Given the description of an element on the screen output the (x, y) to click on. 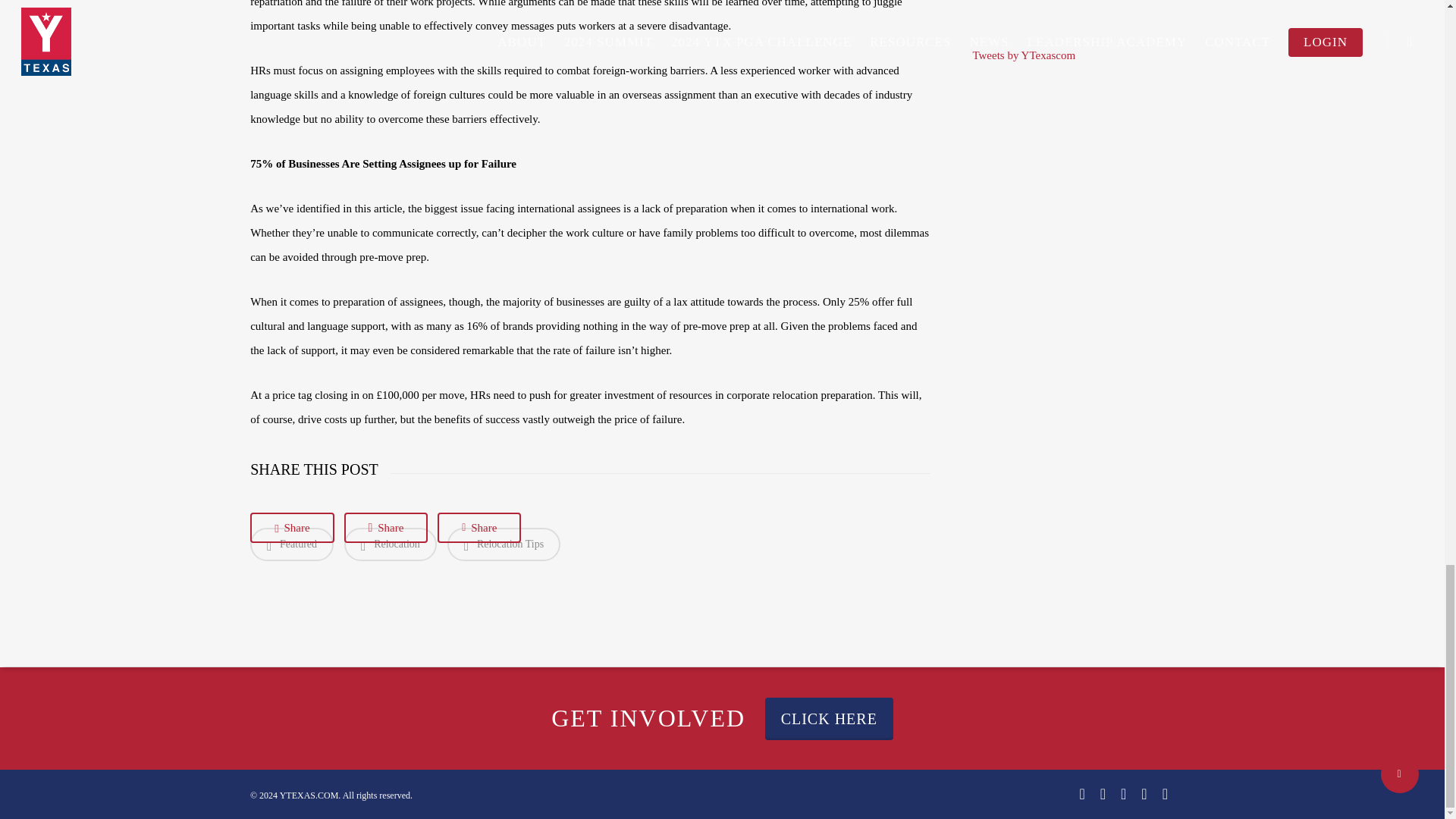
Share this (385, 527)
Share (291, 527)
Featured (291, 544)
Share this (479, 527)
Relocation Tips (503, 544)
Share this (291, 527)
Relocation (389, 544)
Share (479, 527)
Share (385, 527)
